Given the description of an element on the screen output the (x, y) to click on. 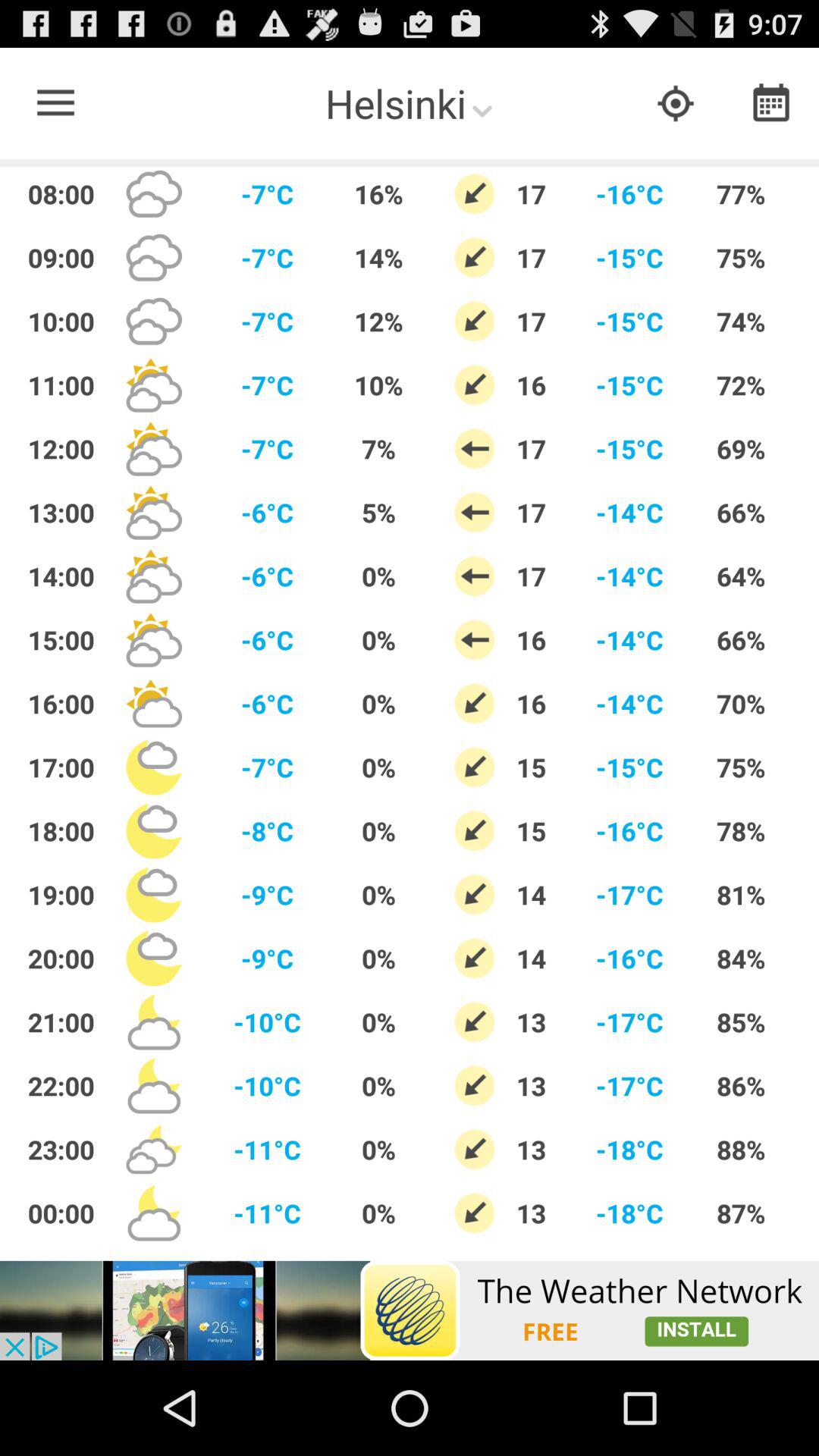
go to another app (409, 1310)
